Given the description of an element on the screen output the (x, y) to click on. 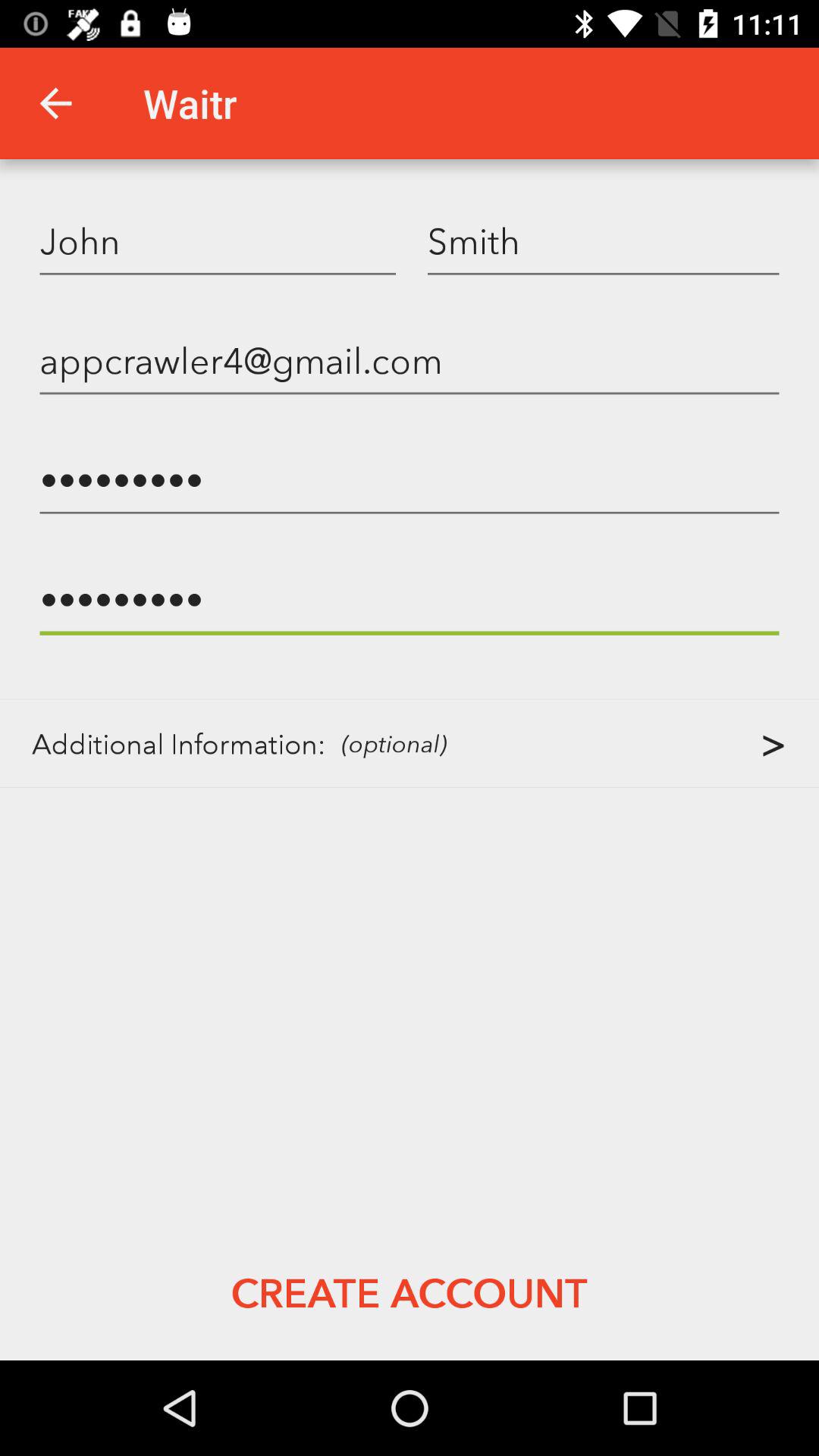
turn on item next to john (603, 240)
